Given the description of an element on the screen output the (x, y) to click on. 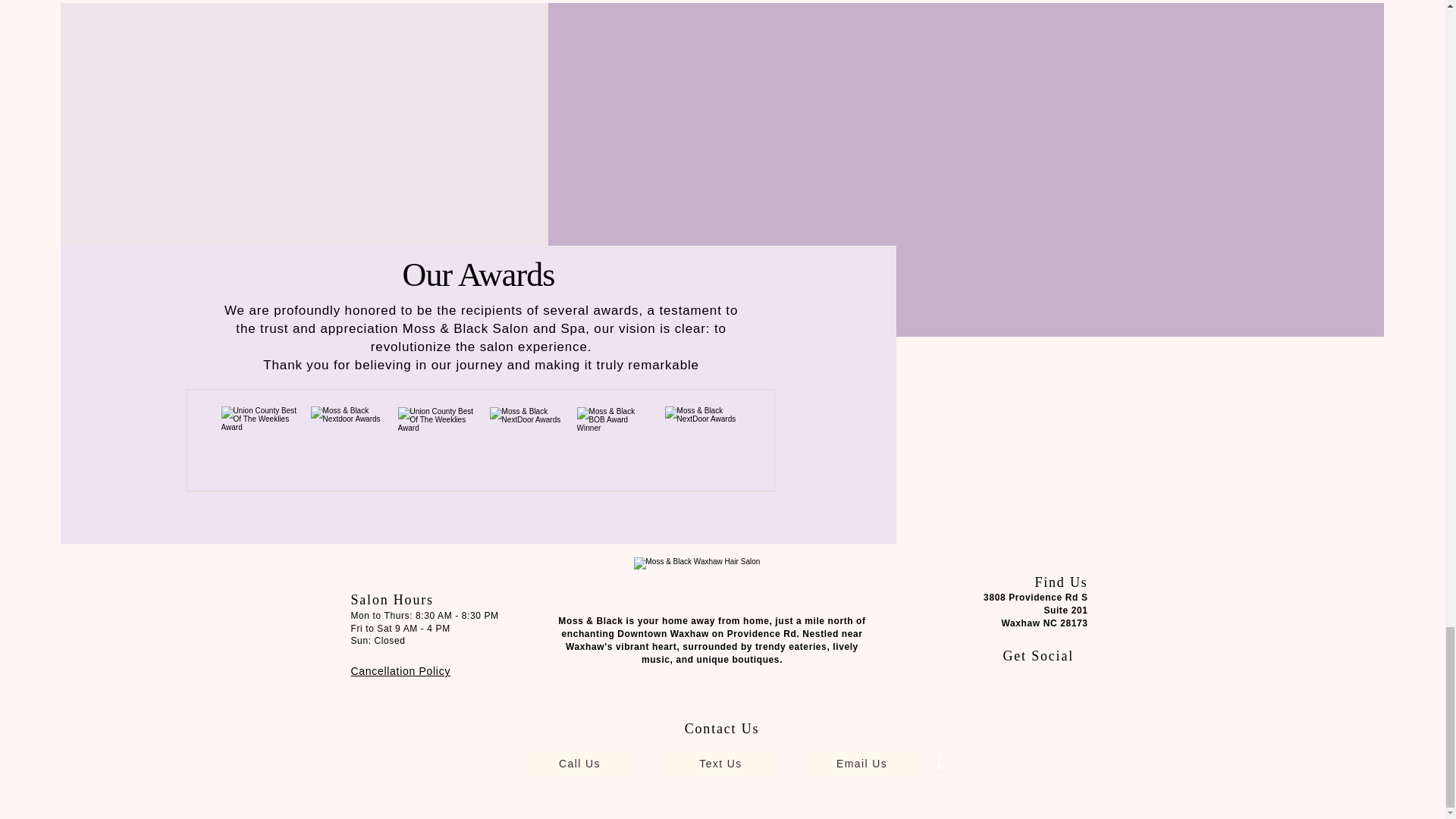
Text Us (722, 763)
Call Us (580, 763)
Email Us (863, 763)
Untitled design-25.jpg (259, 443)
Cancellation Policy (399, 671)
